Given the description of an element on the screen output the (x, y) to click on. 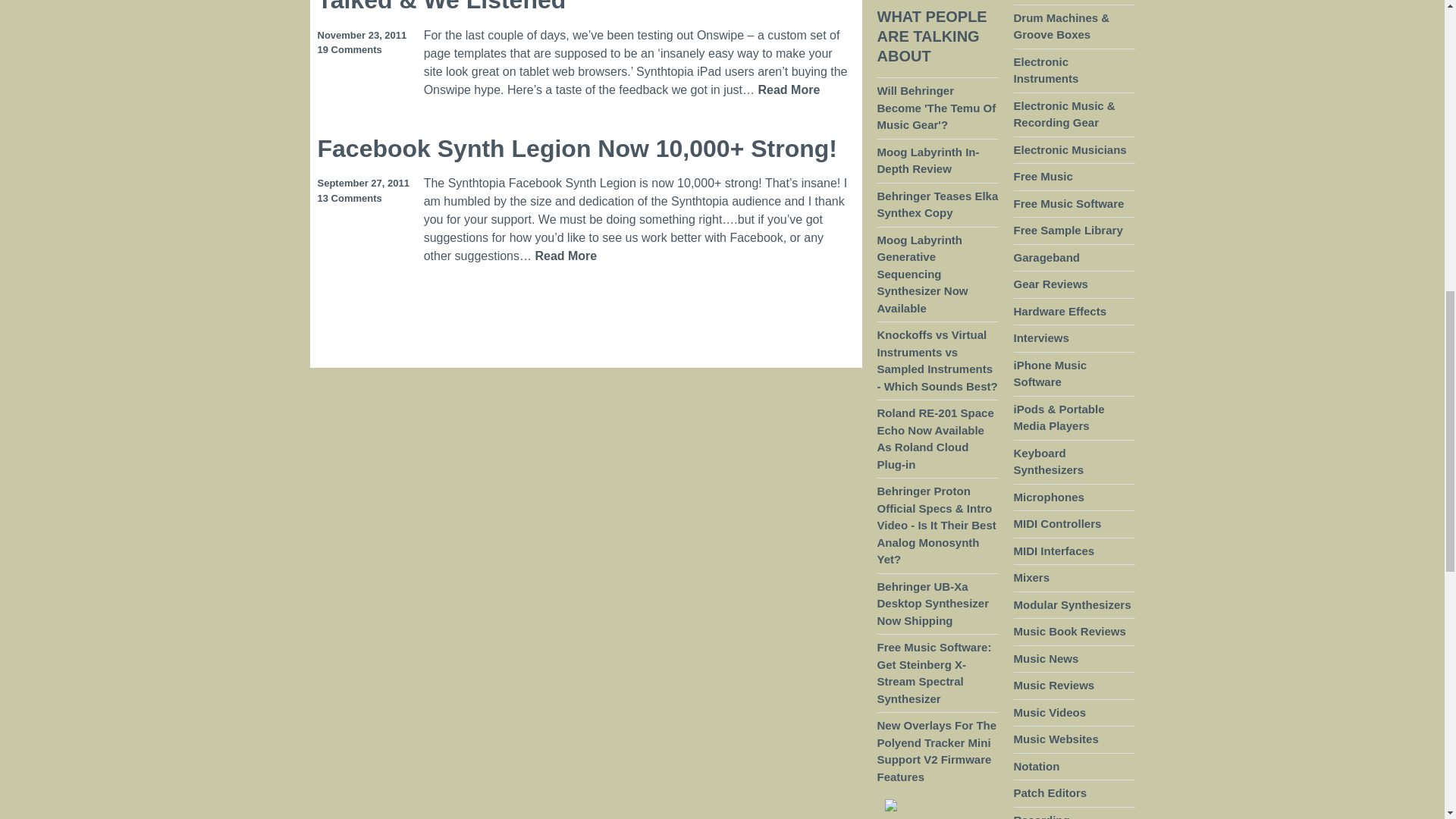
Electronic Musicians (1069, 150)
13 Comments (349, 198)
19 Comments (349, 50)
Electronic Instruments (1045, 70)
November 23, 2011 (361, 35)
September 27, 2011 (363, 183)
